Given the description of an element on the screen output the (x, y) to click on. 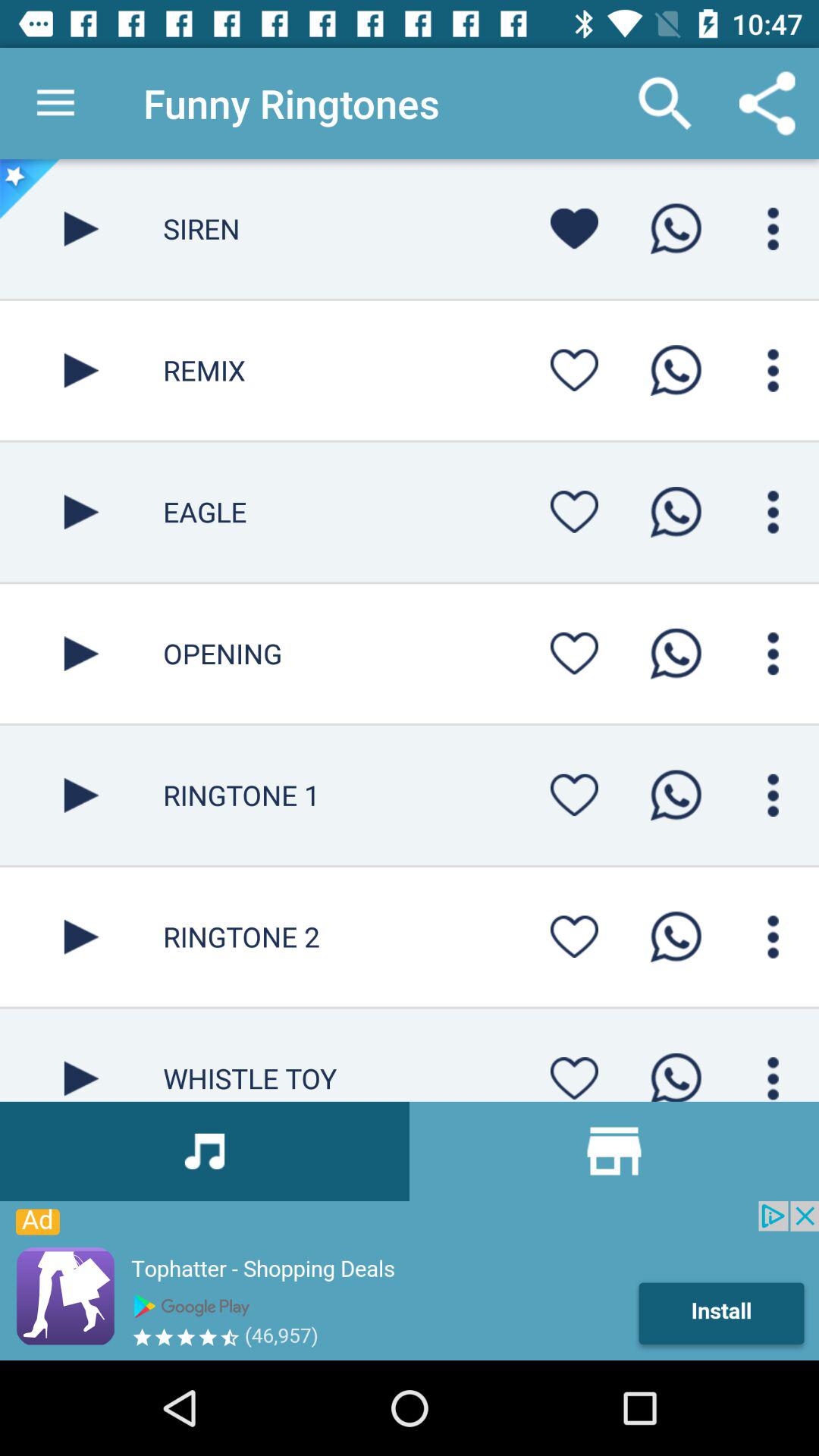
call (675, 936)
